Given the description of an element on the screen output the (x, y) to click on. 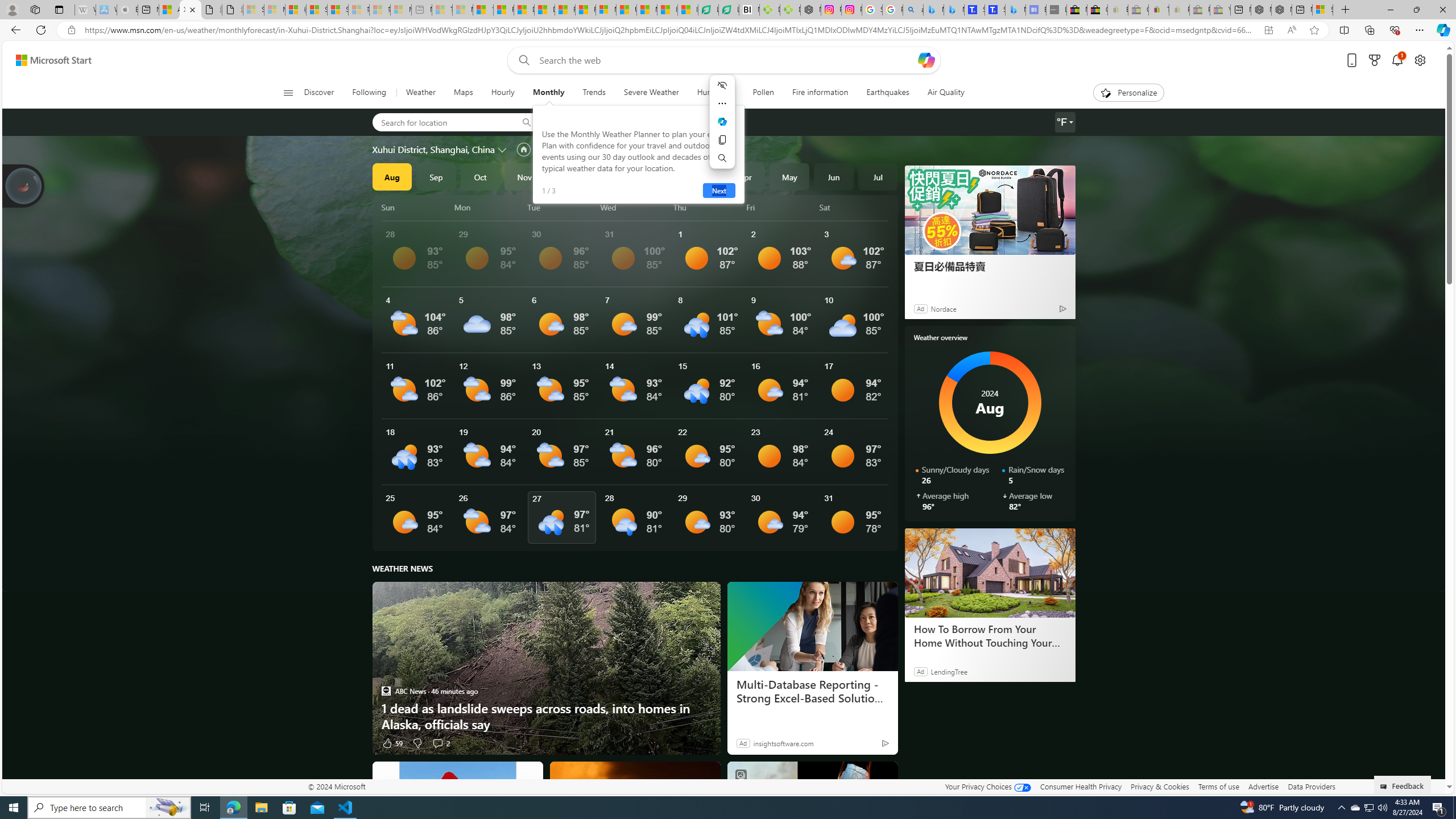
insightsoftware.com (782, 742)
Data Providers (1311, 785)
Remove location (653, 122)
Feb (657, 176)
Fri (780, 207)
Mini menu on text selection (722, 128)
See More Details (853, 517)
Yard, Garden & Outdoor Living - Sleeping (1219, 9)
